Given the description of an element on the screen output the (x, y) to click on. 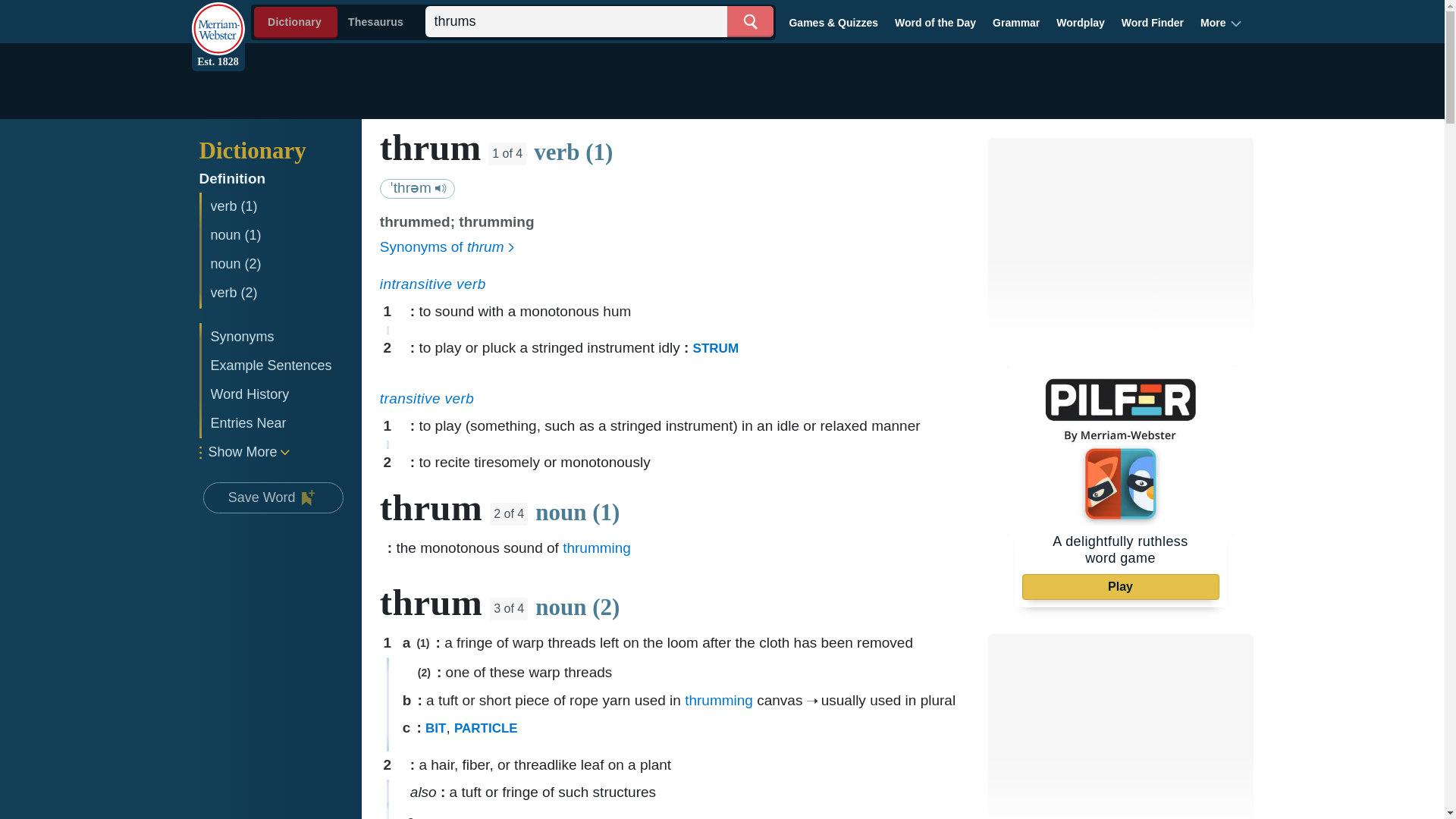
Dictionary (283, 150)
Word Finder (1153, 22)
thrums (599, 20)
Wordplay (1080, 22)
thrums (599, 20)
Grammar (1015, 22)
More (1220, 22)
Word of the Day (935, 22)
Search (749, 20)
Merriam Webster - established 1828 (217, 19)
